Given the description of an element on the screen output the (x, y) to click on. 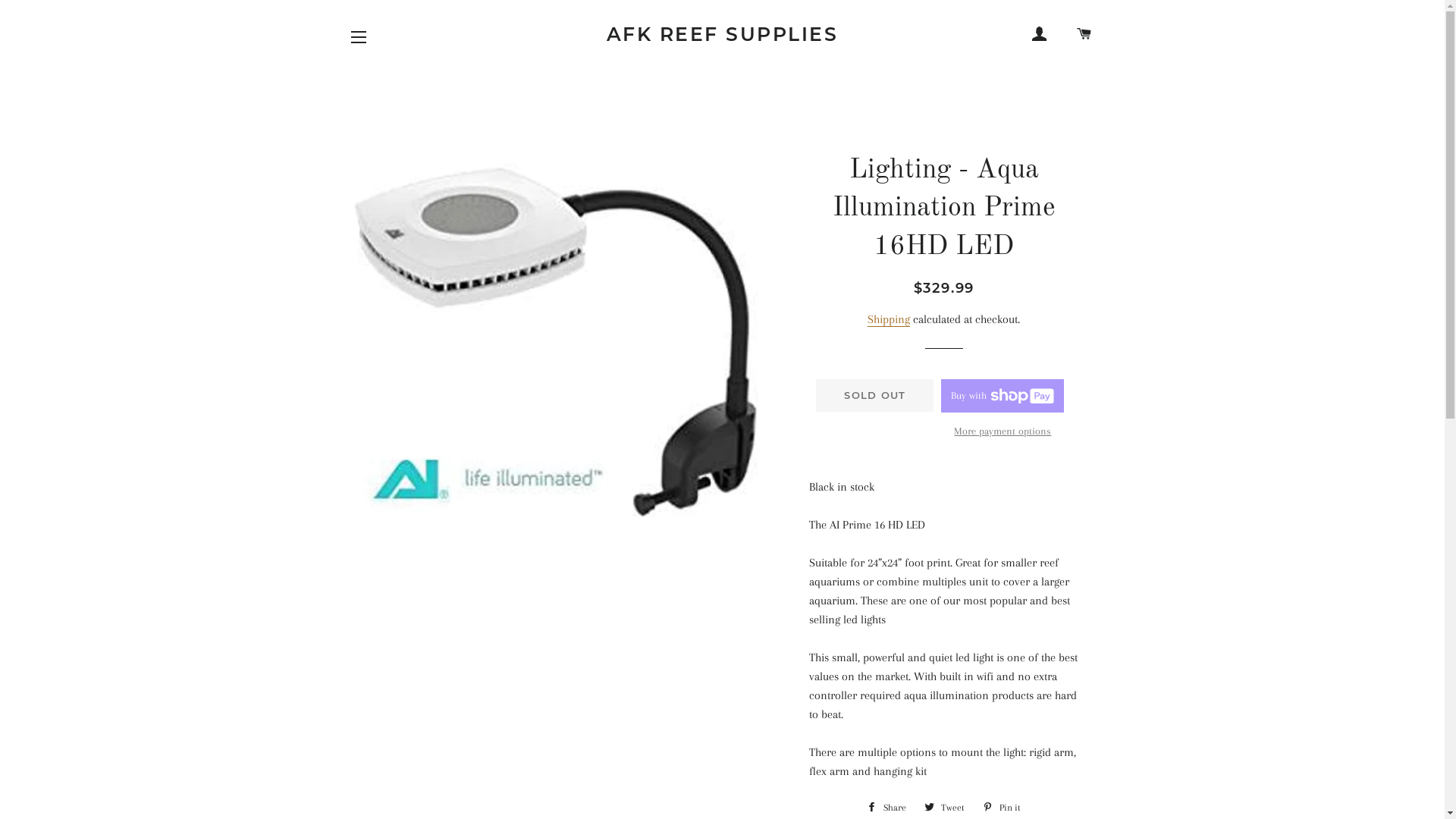
More payment options Element type: text (1002, 431)
SOLD OUT Element type: text (874, 395)
LOG IN Element type: text (1039, 33)
AFK REEF SUPPLIES Element type: text (721, 34)
CART Element type: text (1083, 33)
SEARCH Element type: text (1061, 27)
SITE NAVIGATION Element type: text (358, 37)
Shipping Element type: text (888, 319)
